Given the description of an element on the screen output the (x, y) to click on. 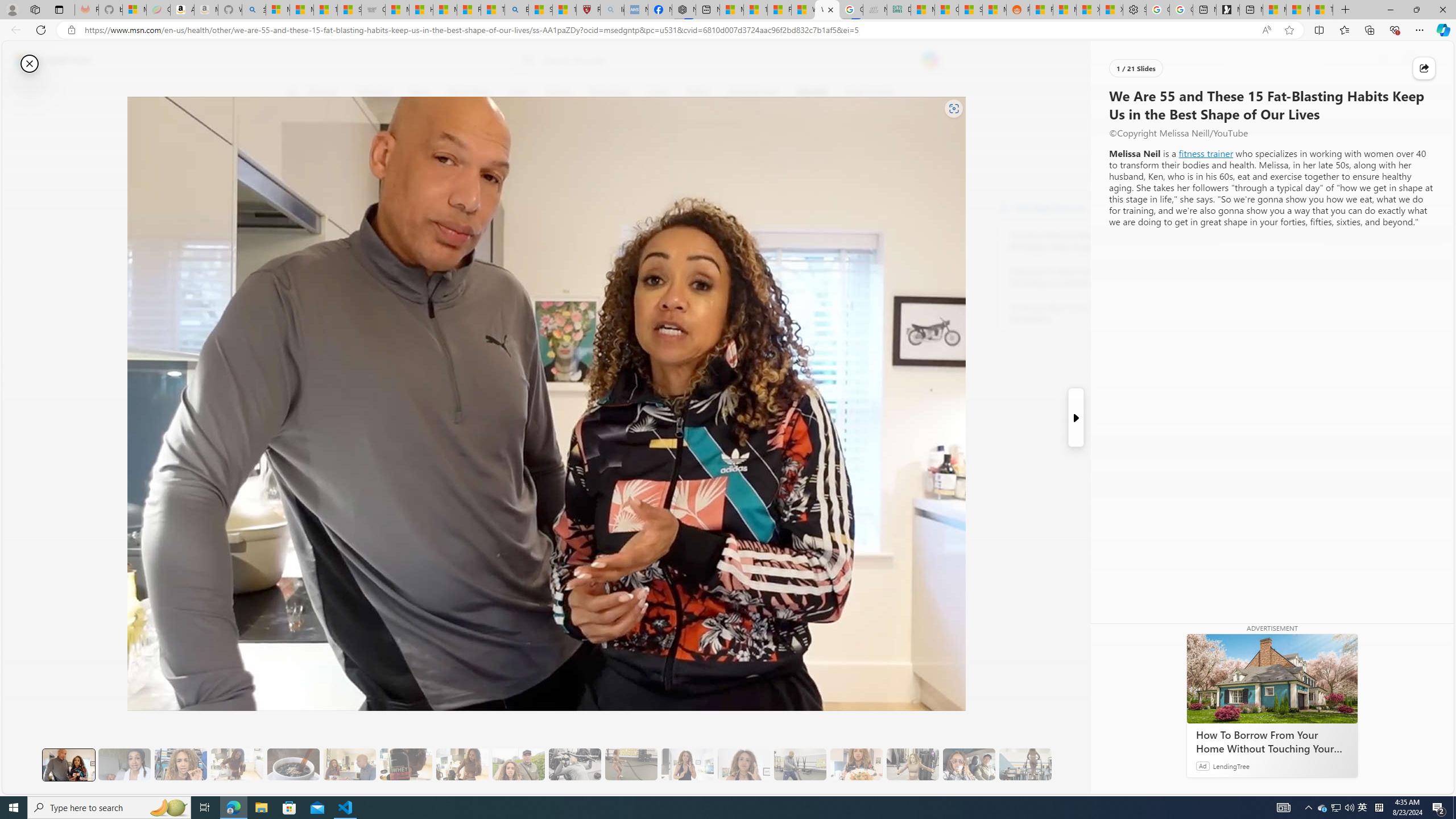
7 They Don't Skip Meals (462, 764)
11 They Eat More Protein for Breakfast (687, 764)
Technology (609, 92)
5 She Eats Less Than Her Husband (349, 764)
Next Slide (1076, 417)
16 The Couple's Program Helps with Accountability (968, 764)
